Given the description of an element on the screen output the (x, y) to click on. 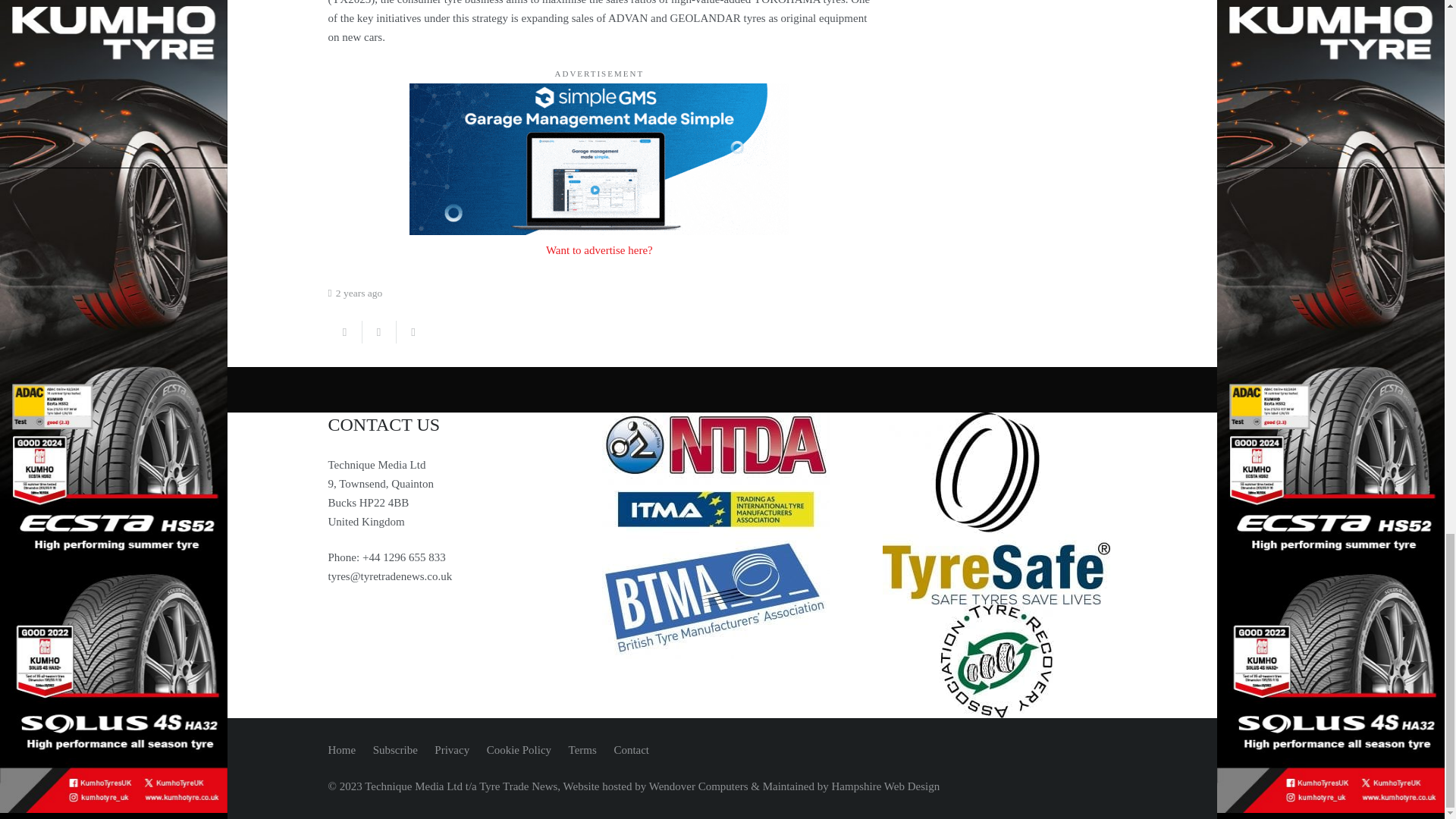
Share this (412, 332)
Tweet this (379, 332)
Terms (582, 749)
Privacy (450, 749)
Home (341, 749)
Contact (630, 749)
Hampshire Web Design (885, 786)
Share this (344, 332)
Cookie Policy (518, 749)
Want to advertise here? (599, 250)
